Given the description of an element on the screen output the (x, y) to click on. 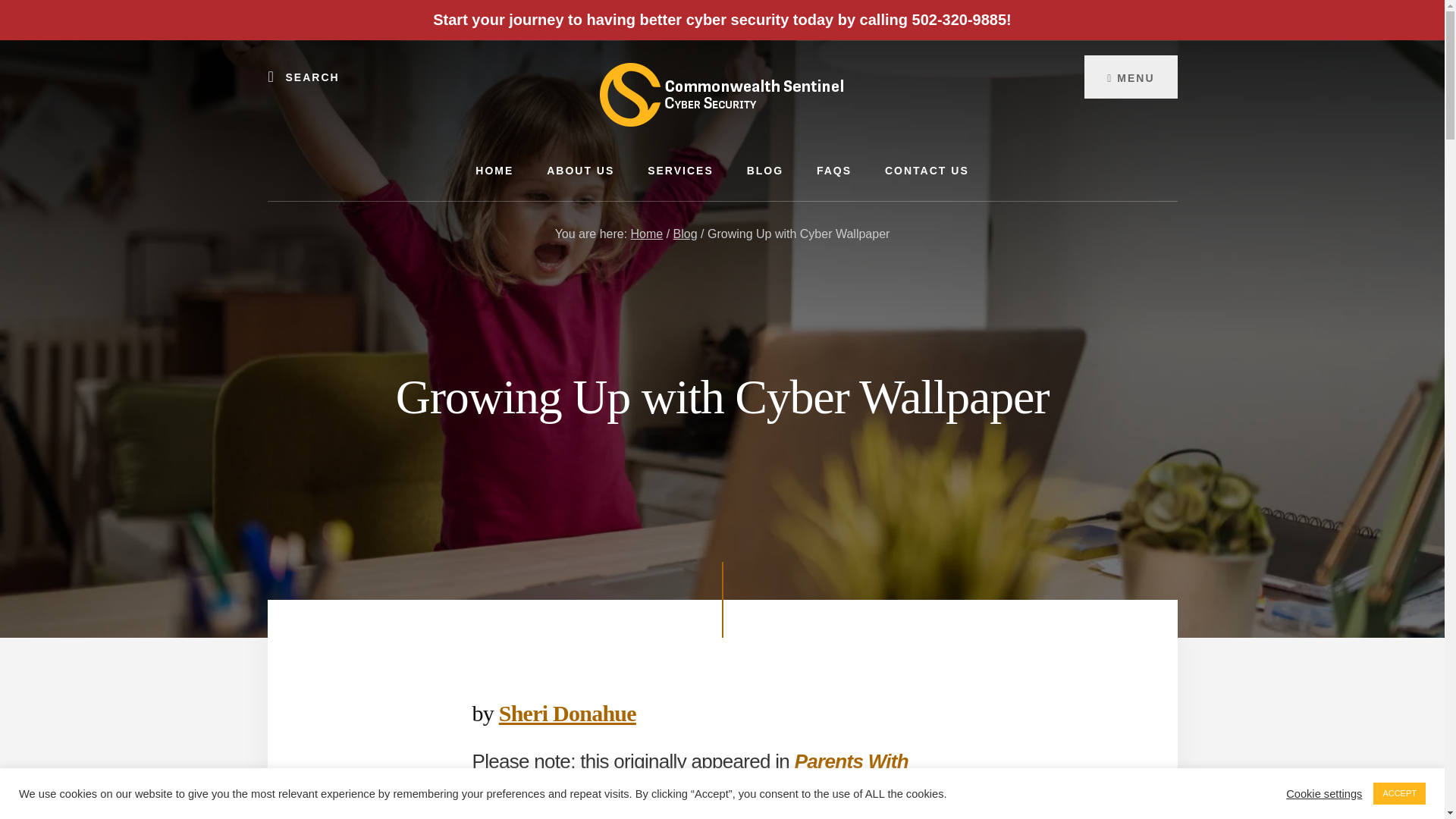
CONTACT US (926, 170)
SERVICES (680, 170)
Home (646, 233)
Blog (684, 233)
MENU (1130, 76)
Sheri Donahue (567, 713)
HOME (494, 170)
ACCEPT (1399, 793)
